Given the description of an element on the screen output the (x, y) to click on. 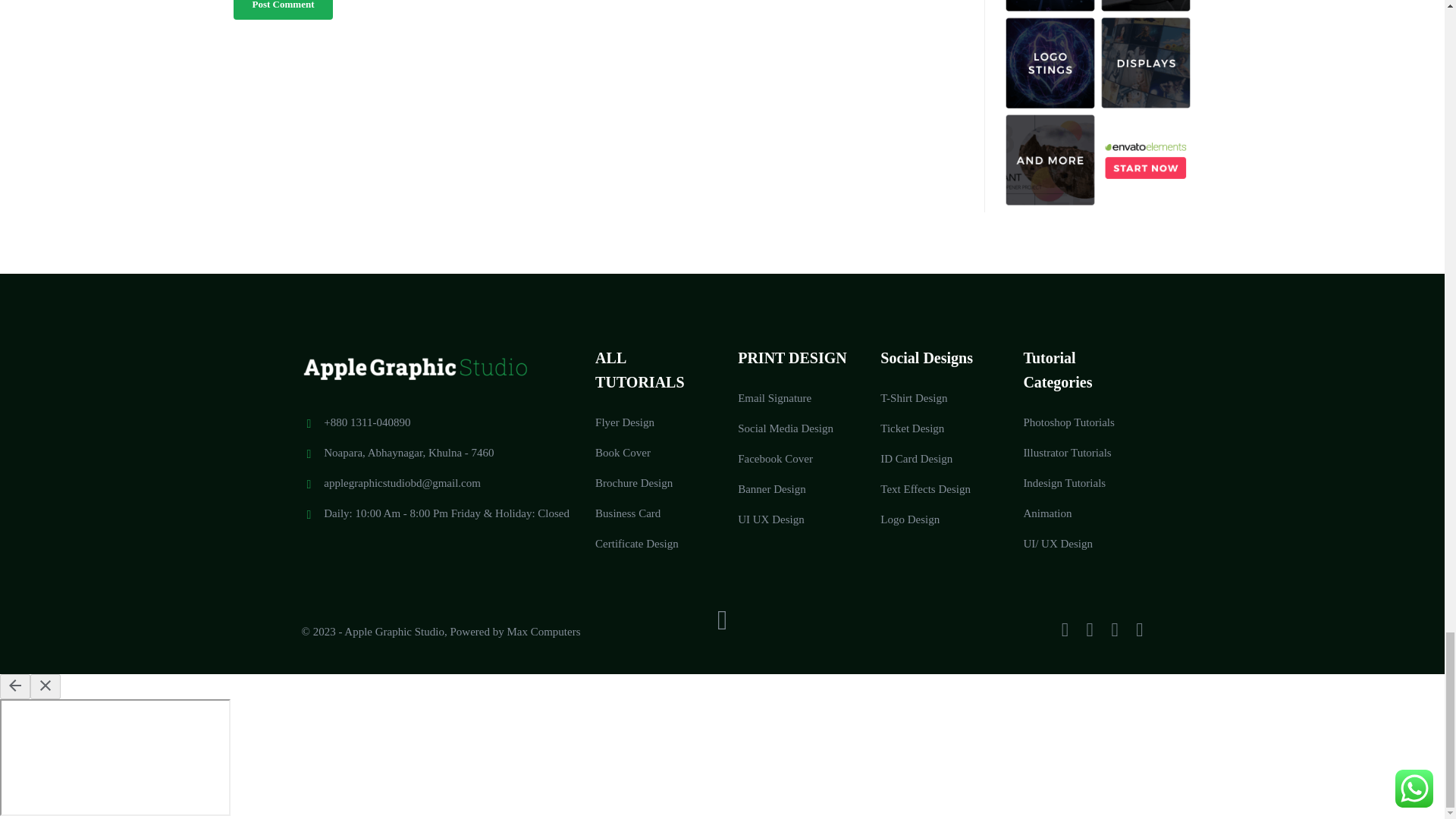
Post Comment (282, 9)
